Given the description of an element on the screen output the (x, y) to click on. 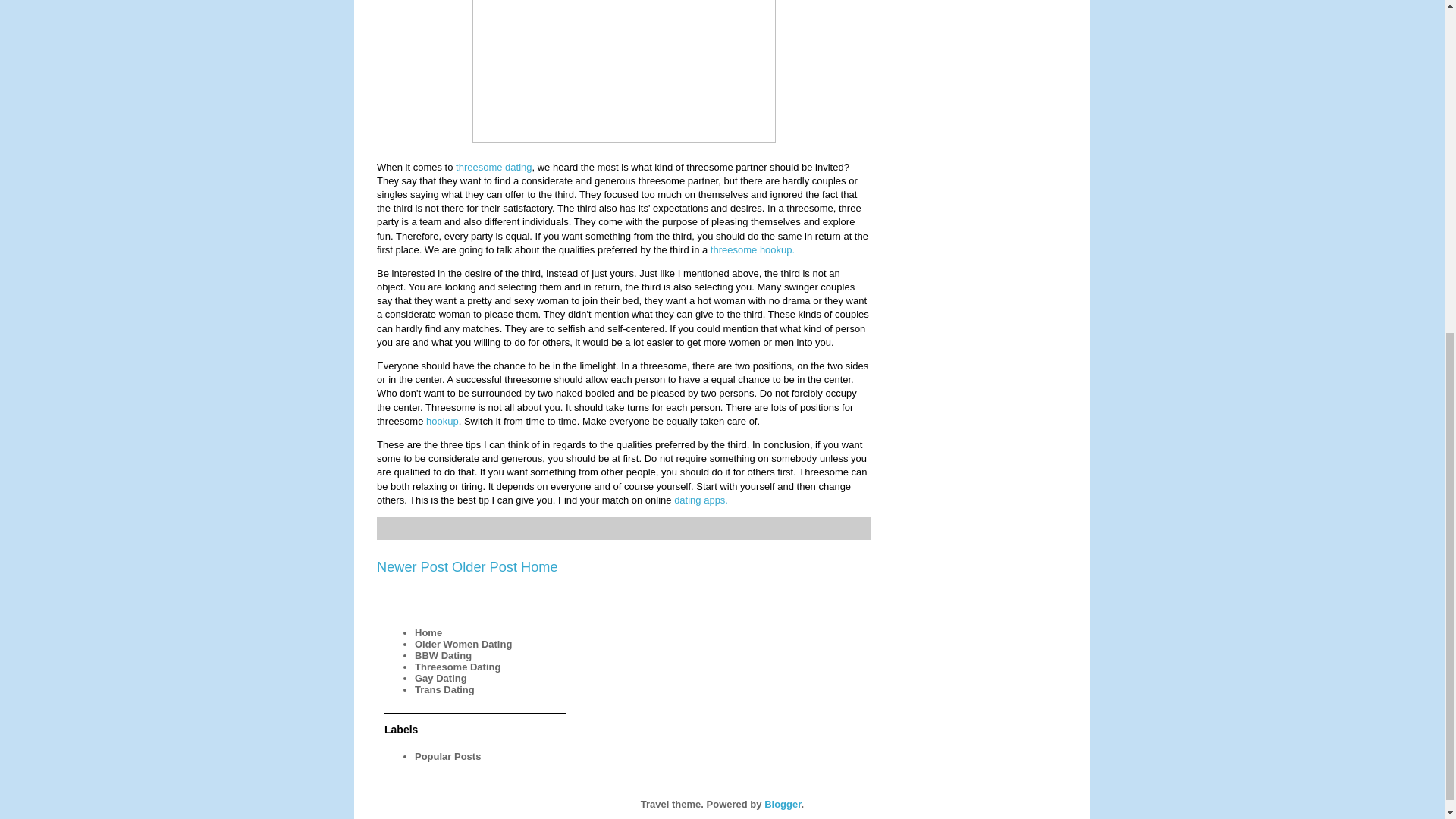
threesome dating (493, 166)
hookup (442, 420)
Older Post (483, 566)
Blogger (782, 803)
Older Post (483, 566)
Newer Post (412, 566)
BBW Dating (442, 655)
Home (539, 566)
Popular Posts (447, 756)
Gay Dating (440, 677)
Home (428, 632)
Trans Dating (444, 689)
Newer Post (412, 566)
Threesome Dating (457, 666)
Older Women Dating (463, 644)
